Given the description of an element on the screen output the (x, y) to click on. 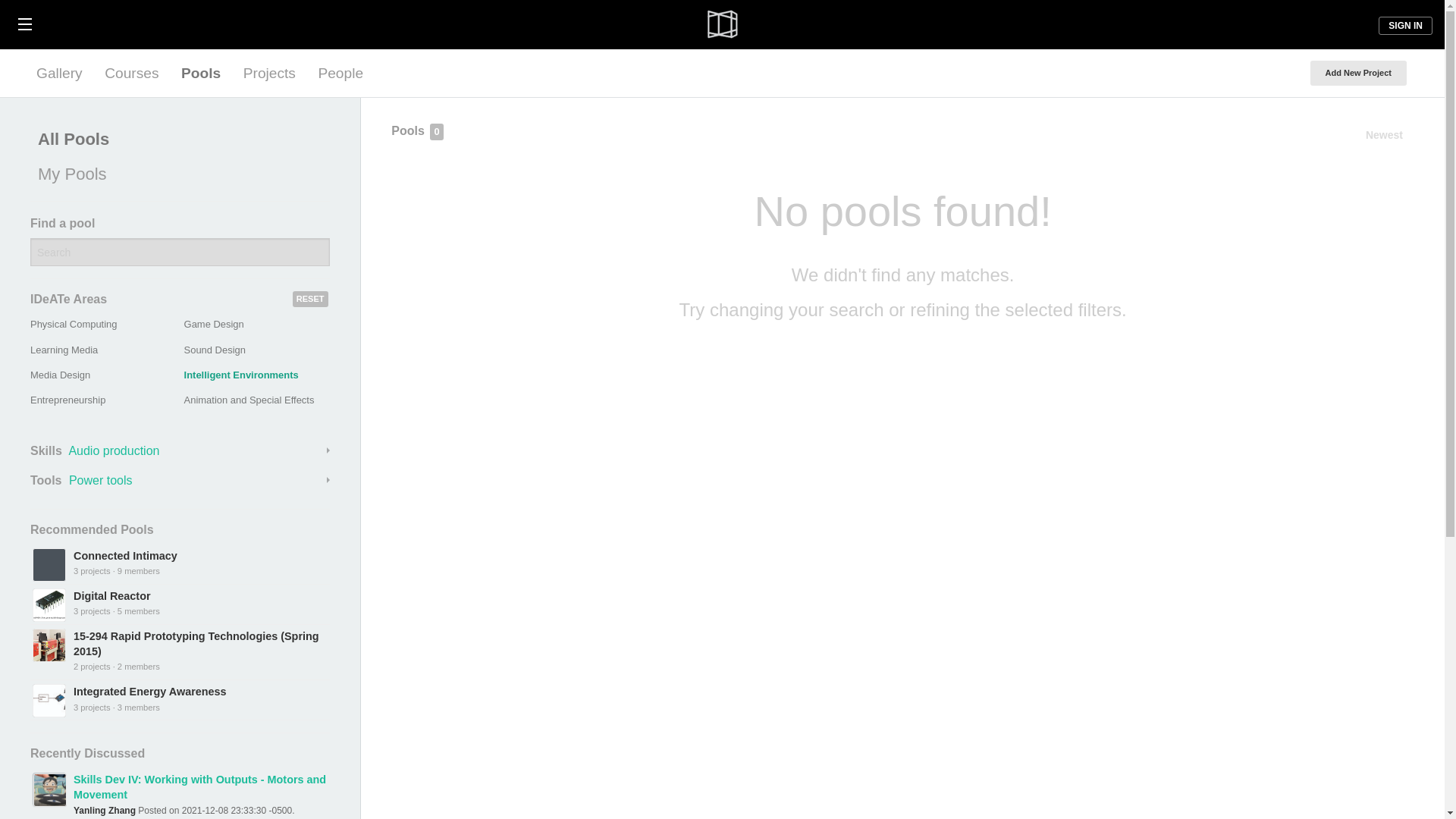
SIGN IN (1405, 25)
Courses (131, 73)
Add New Project (1358, 72)
Skills Audio production (180, 451)
Media Design (60, 374)
Animation and Special Effects (249, 399)
Sound Design (215, 349)
Game Design (214, 324)
Physical Computing (73, 324)
People (340, 73)
Pools (200, 73)
My Pools (175, 174)
RESET (310, 299)
Entrepreneurship (67, 399)
Intelligent Environments (241, 374)
